Given the description of an element on the screen output the (x, y) to click on. 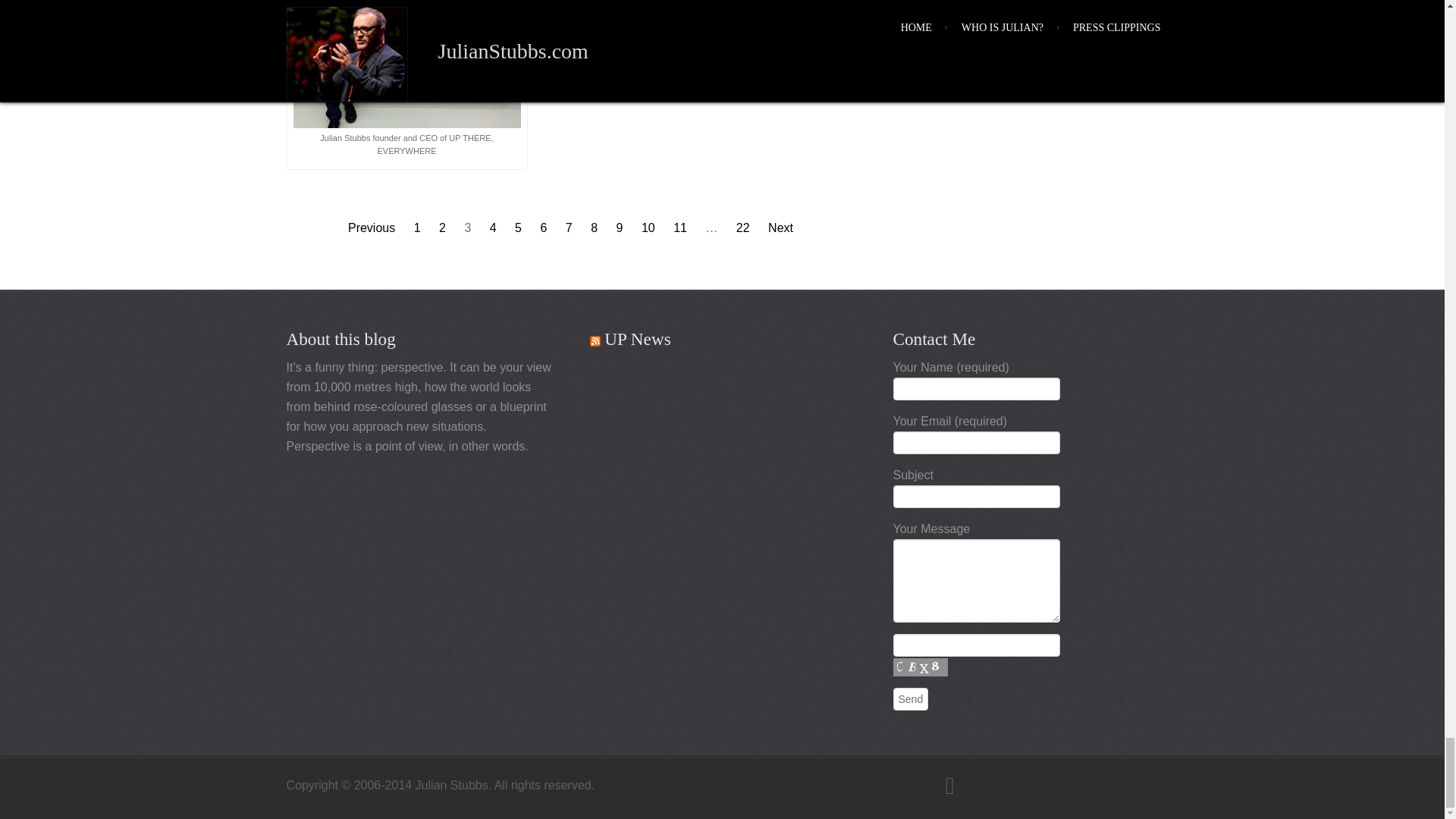
5 (518, 227)
1 (416, 227)
10 (648, 227)
Send (910, 698)
6 (543, 227)
4 (492, 227)
Previous (370, 227)
2 (442, 227)
9 (619, 227)
8 (593, 227)
7 (569, 227)
